Given the description of an element on the screen output the (x, y) to click on. 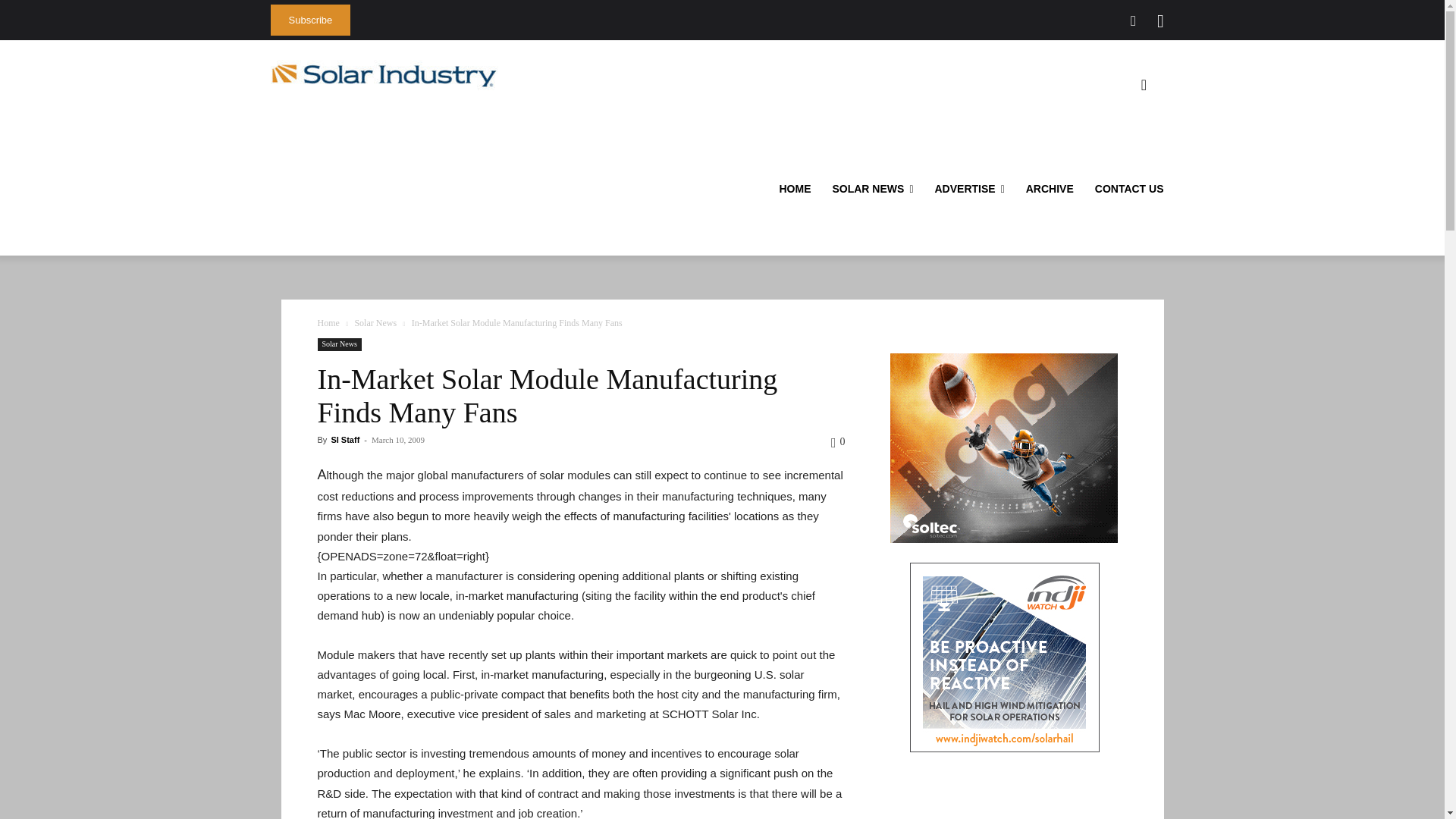
Solar Industry (383, 75)
Rss (1160, 21)
Subscribe (309, 20)
Twitter (1133, 21)
View all posts in Solar News (374, 322)
